Given the description of an element on the screen output the (x, y) to click on. 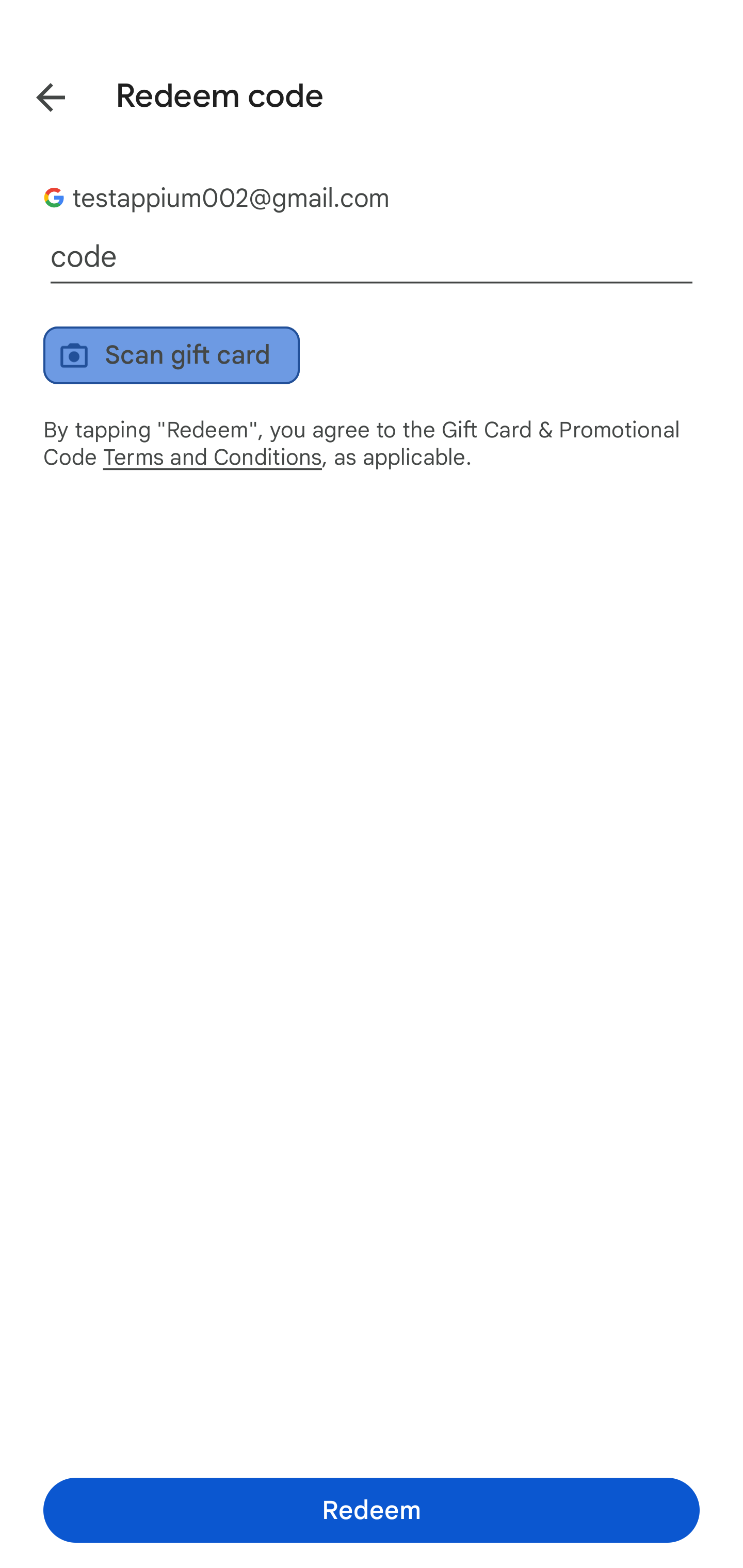
Back (36, 94)
code (371, 256)
Scan gift card (171, 355)
Redeem (371, 1509)
